Given the description of an element on the screen output the (x, y) to click on. 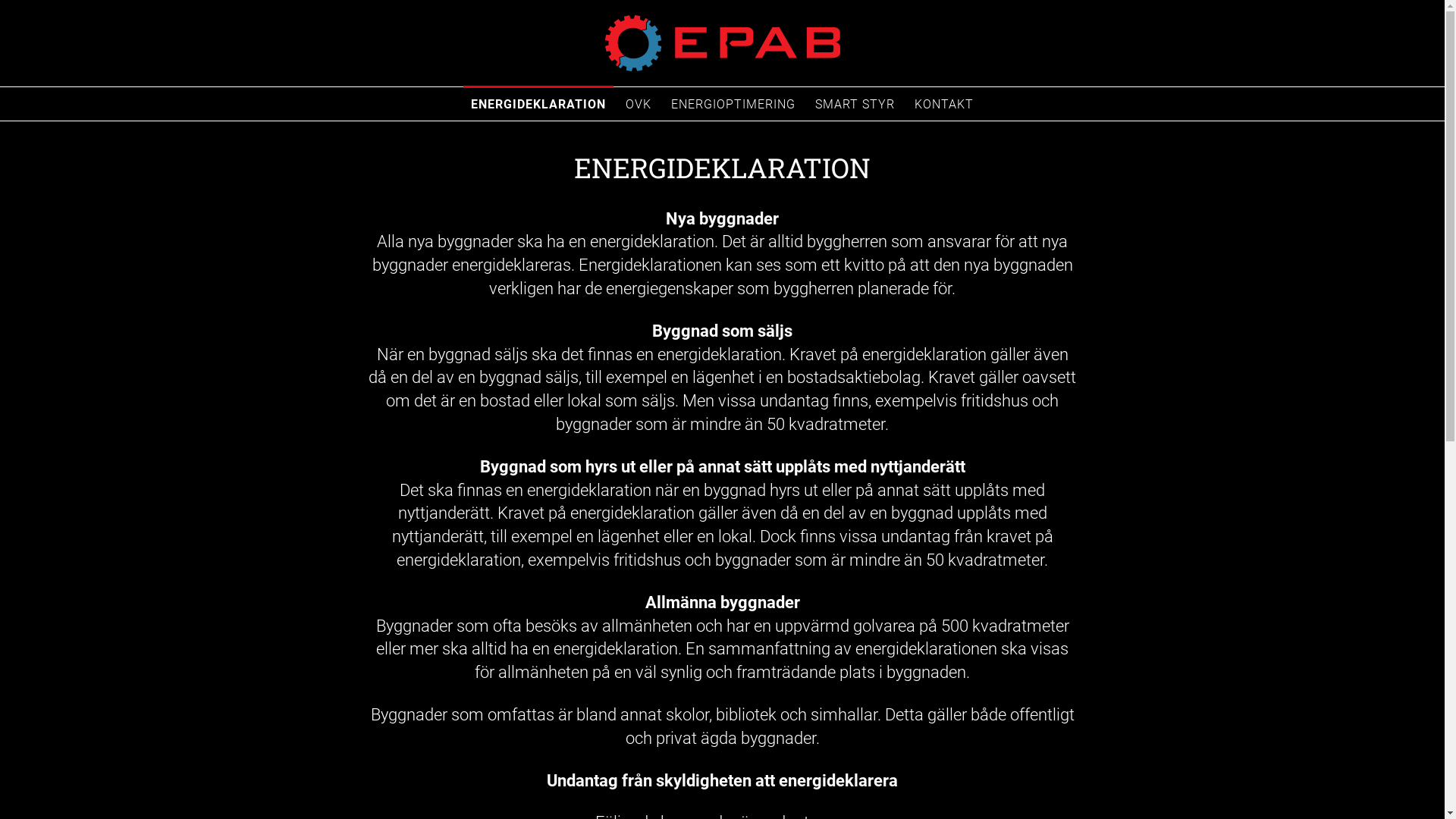
ENERGIOPTIMERING Element type: text (733, 103)
SMART STYR Element type: text (854, 103)
OVK Element type: text (638, 103)
EPAB Element type: text (367, 151)
ENERGIDEKLARATION Element type: text (538, 102)
KONTAKT Element type: text (943, 103)
